Given the description of an element on the screen output the (x, y) to click on. 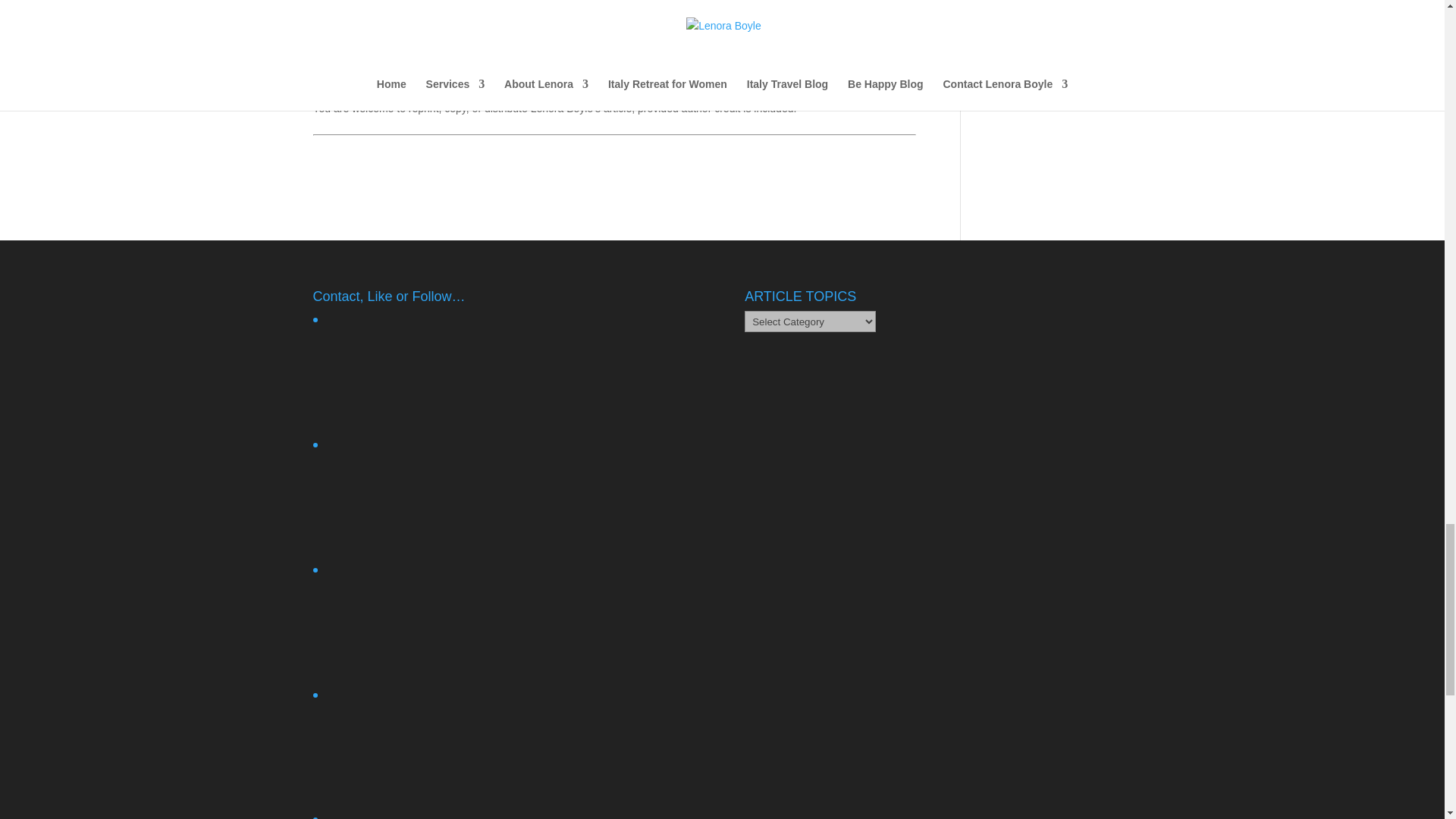
LinkedIn (436, 743)
Instagram (436, 671)
Instagram (436, 617)
Italy Retreats For Women (617, 61)
Pinterest (436, 814)
Facebook (436, 368)
LinkedIn (436, 796)
Flickr (436, 492)
Facebook (436, 420)
Flickr (436, 545)
